Given the description of an element on the screen output the (x, y) to click on. 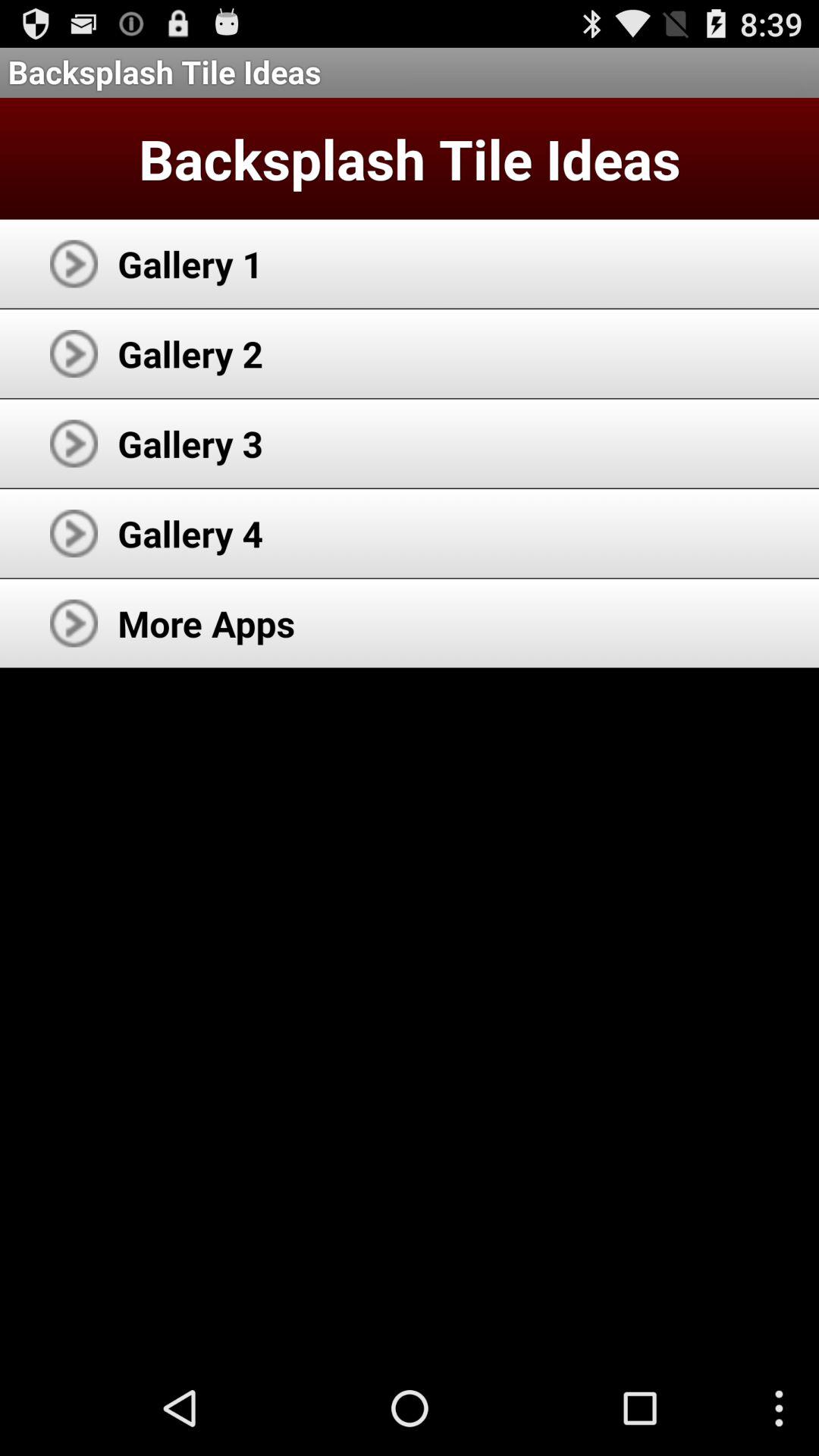
swipe to gallery 2 (190, 353)
